Given the description of an element on the screen output the (x, y) to click on. 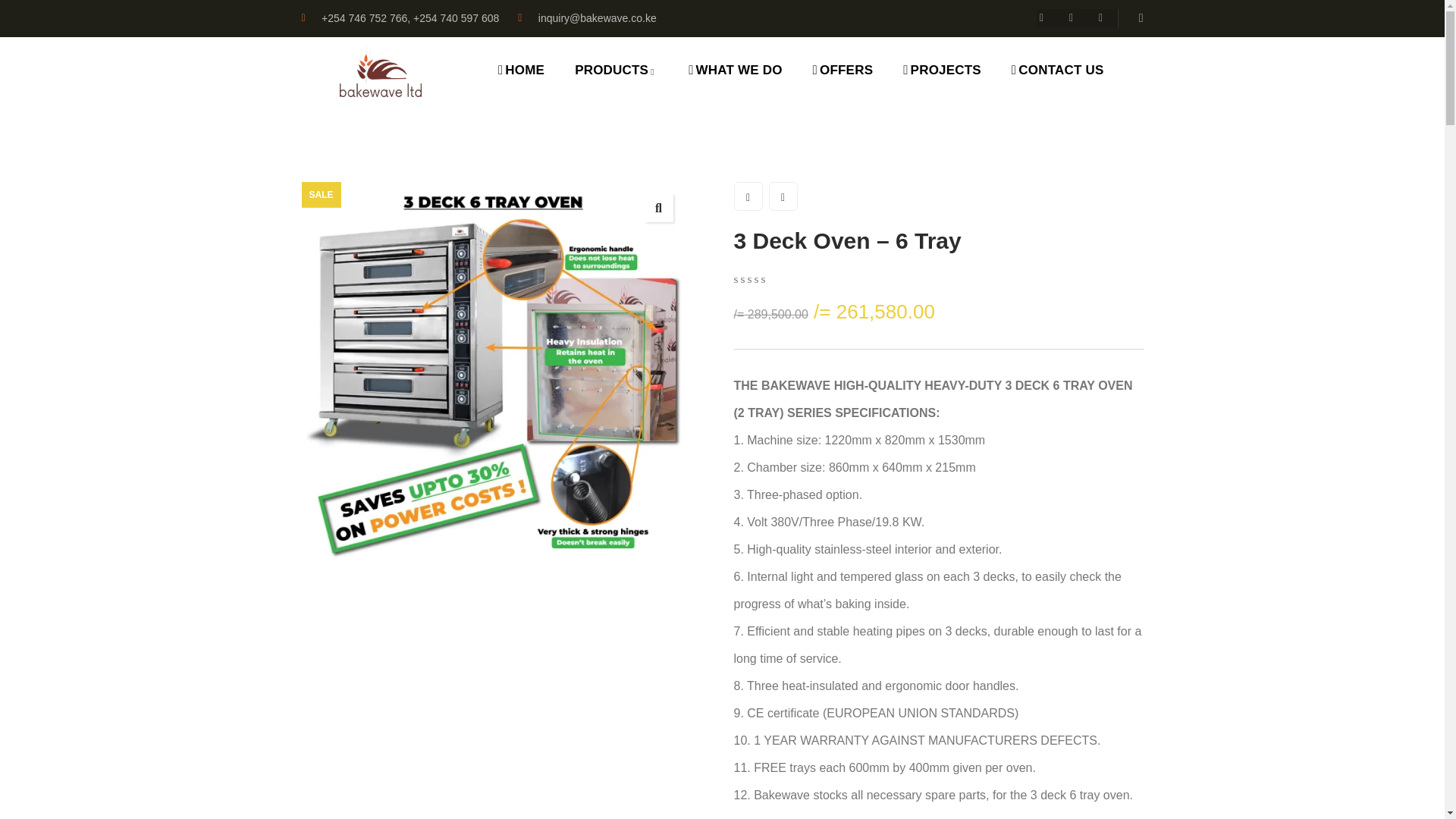
PRODUCTS (616, 70)
HOME (520, 70)
Rated 0 out of 5 (768, 278)
Home (380, 71)
